Given the description of an element on the screen output the (x, y) to click on. 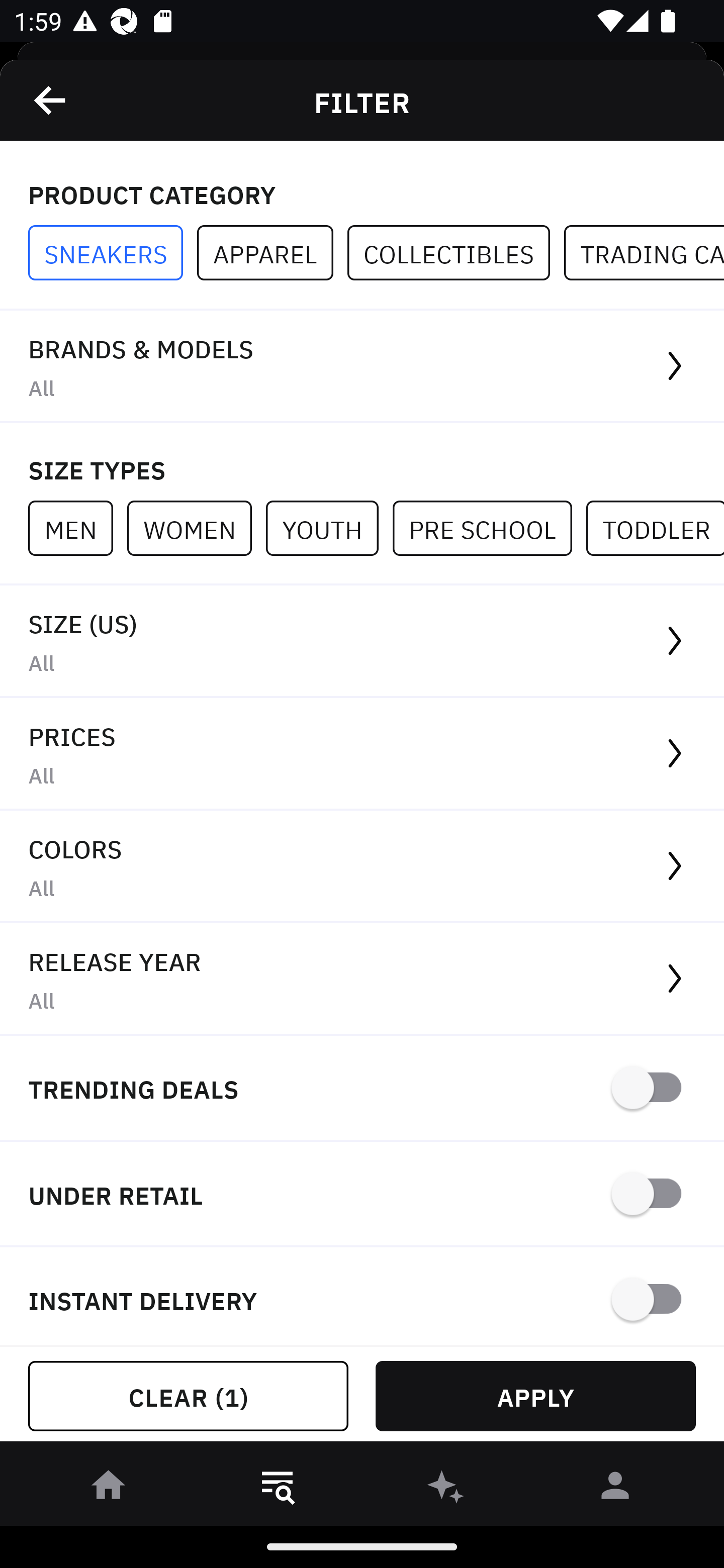
 (50, 100)
SNEAKERS (112, 252)
APPAREL (271, 252)
COLLECTIBLES (455, 252)
TRADING CARDS (643, 252)
BRANDS & MODELS All (362, 366)
MEN (77, 527)
WOMEN (196, 527)
YOUTH (328, 527)
PRE SCHOOL (489, 527)
TODDLER (655, 527)
SIZE (US) All (362, 640)
PRICES All (362, 753)
COLORS All (362, 866)
RELEASE YEAR All (362, 979)
TRENDING DEALS (362, 1088)
UNDER RETAIL (362, 1194)
INSTANT DELIVERY (362, 1296)
CLEAR (1) (188, 1396)
APPLY (535, 1396)
󰋜 (108, 1488)
󱎸 (277, 1488)
󰫢 (446, 1488)
󰀄 (615, 1488)
